Given the description of an element on the screen output the (x, y) to click on. 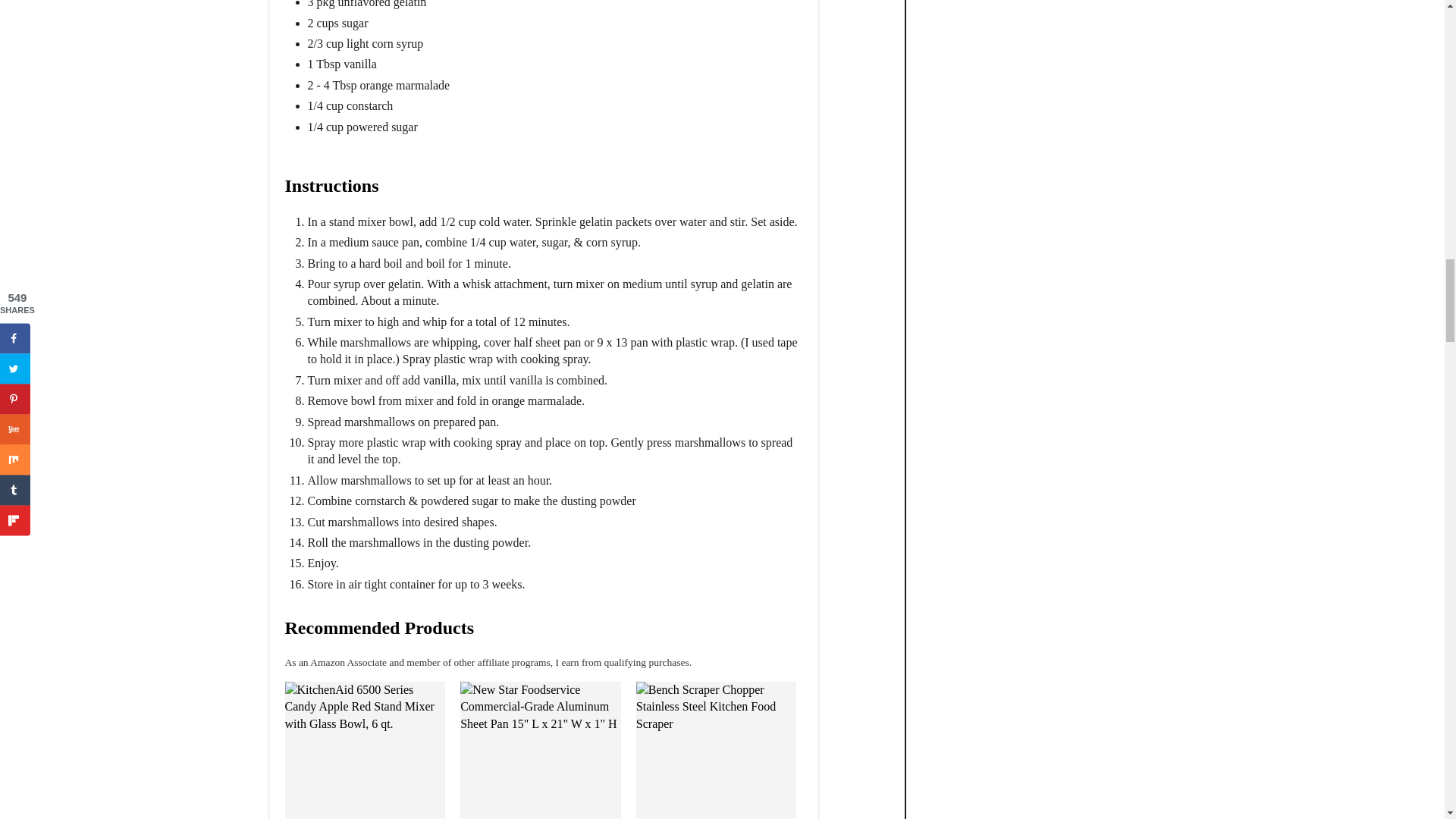
Bench Scraper Chopper Stainless Steel Kitchen Food Scraper (716, 750)
